Given the description of an element on the screen output the (x, y) to click on. 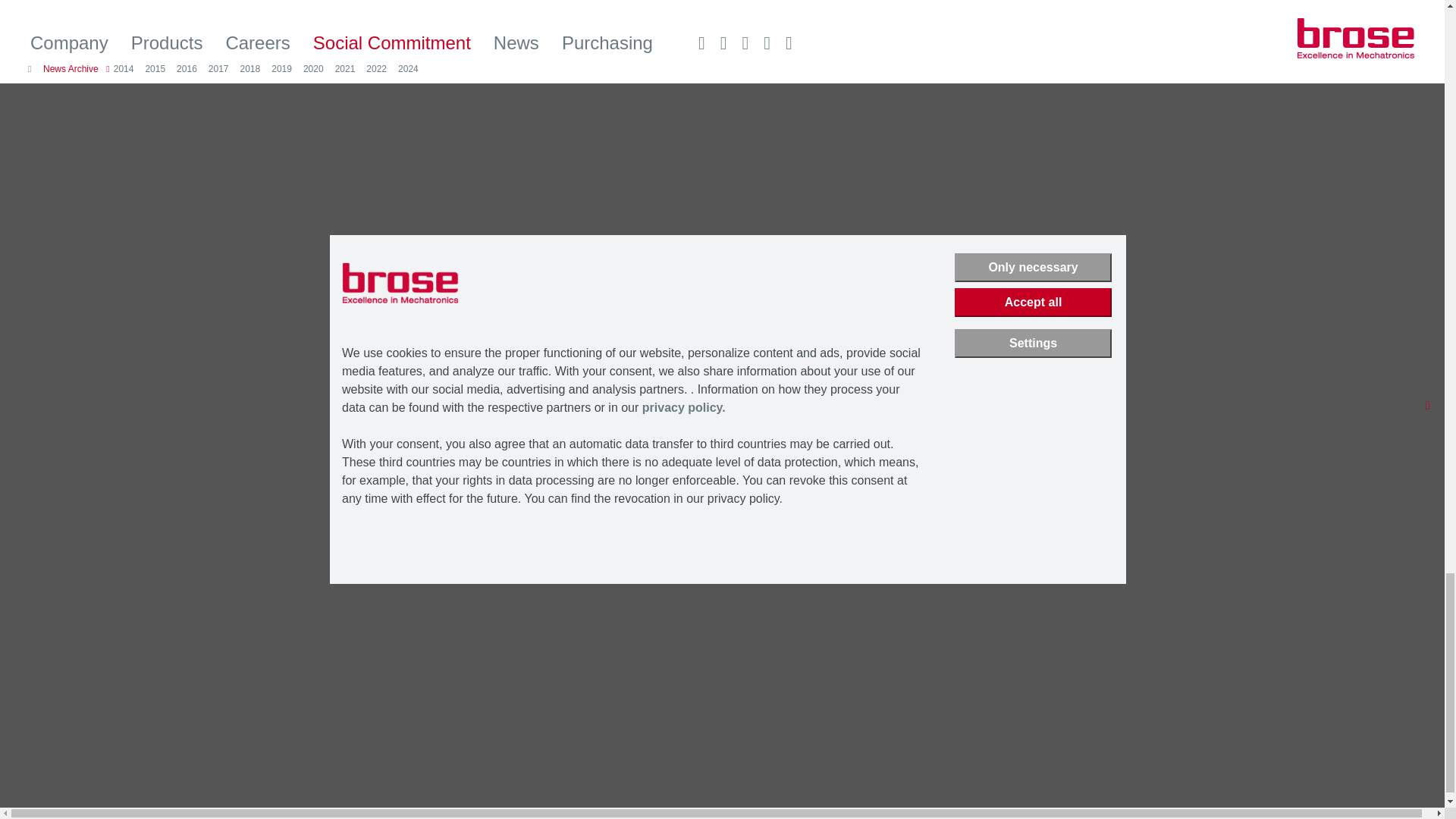
Settings (1033, 343)
Only necessary (1033, 267)
Accept all (1033, 302)
